Given the description of an element on the screen output the (x, y) to click on. 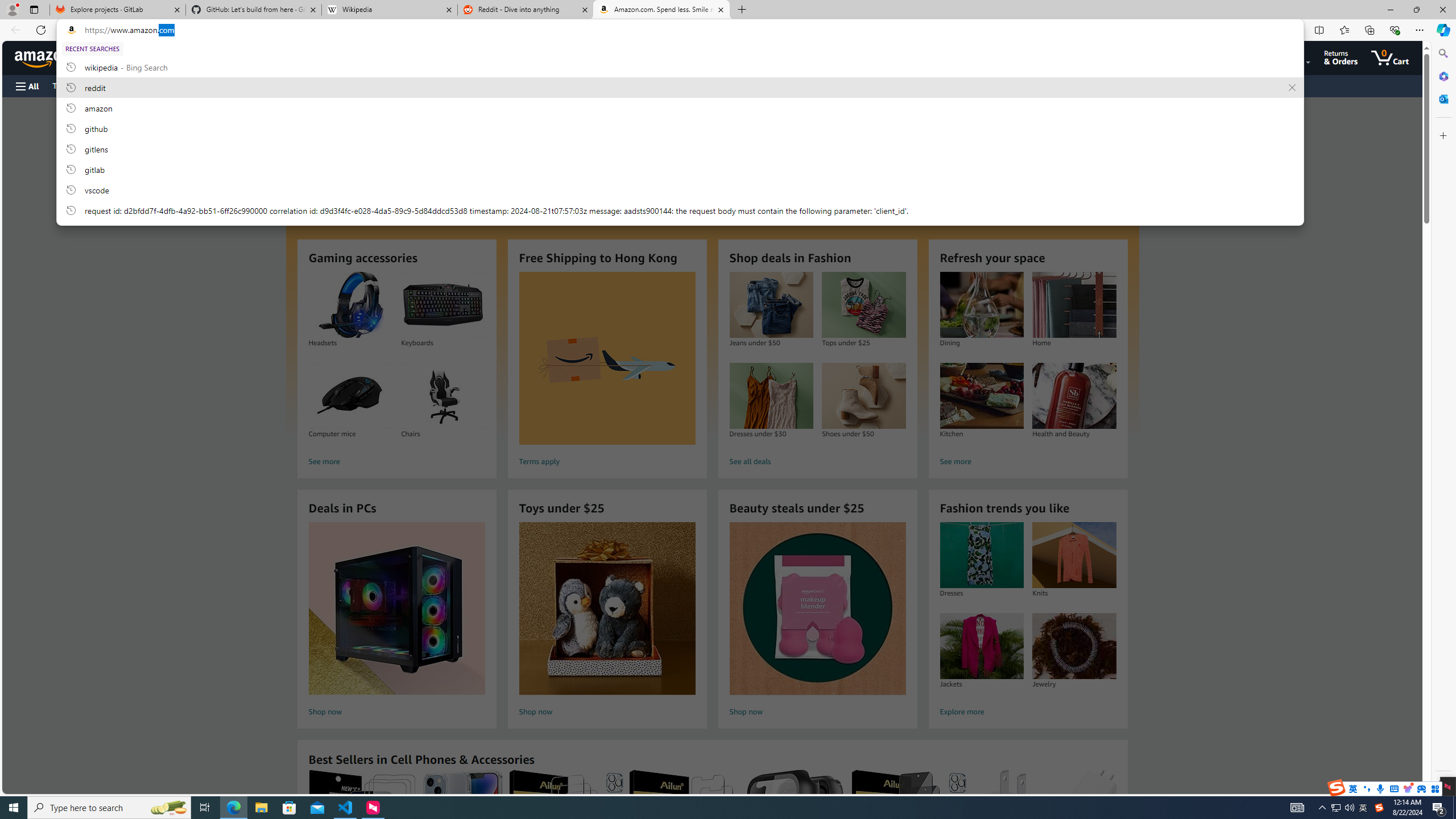
Free Shipping to Hong Kong Terms apply (606, 370)
Dresses (981, 555)
App bar (728, 29)
Restore (1416, 9)
Free Shipping to Hong Kong Learn more (711, 267)
Chairs (443, 395)
Free Shipping to Hong Kong (606, 357)
Choose a language for shopping. (1216, 57)
Next slide (1114, 168)
Back (13, 29)
Settings (1442, 783)
Deliver to Hong Kong (109, 57)
Jewelry (1074, 645)
